Given the description of an element on the screen output the (x, y) to click on. 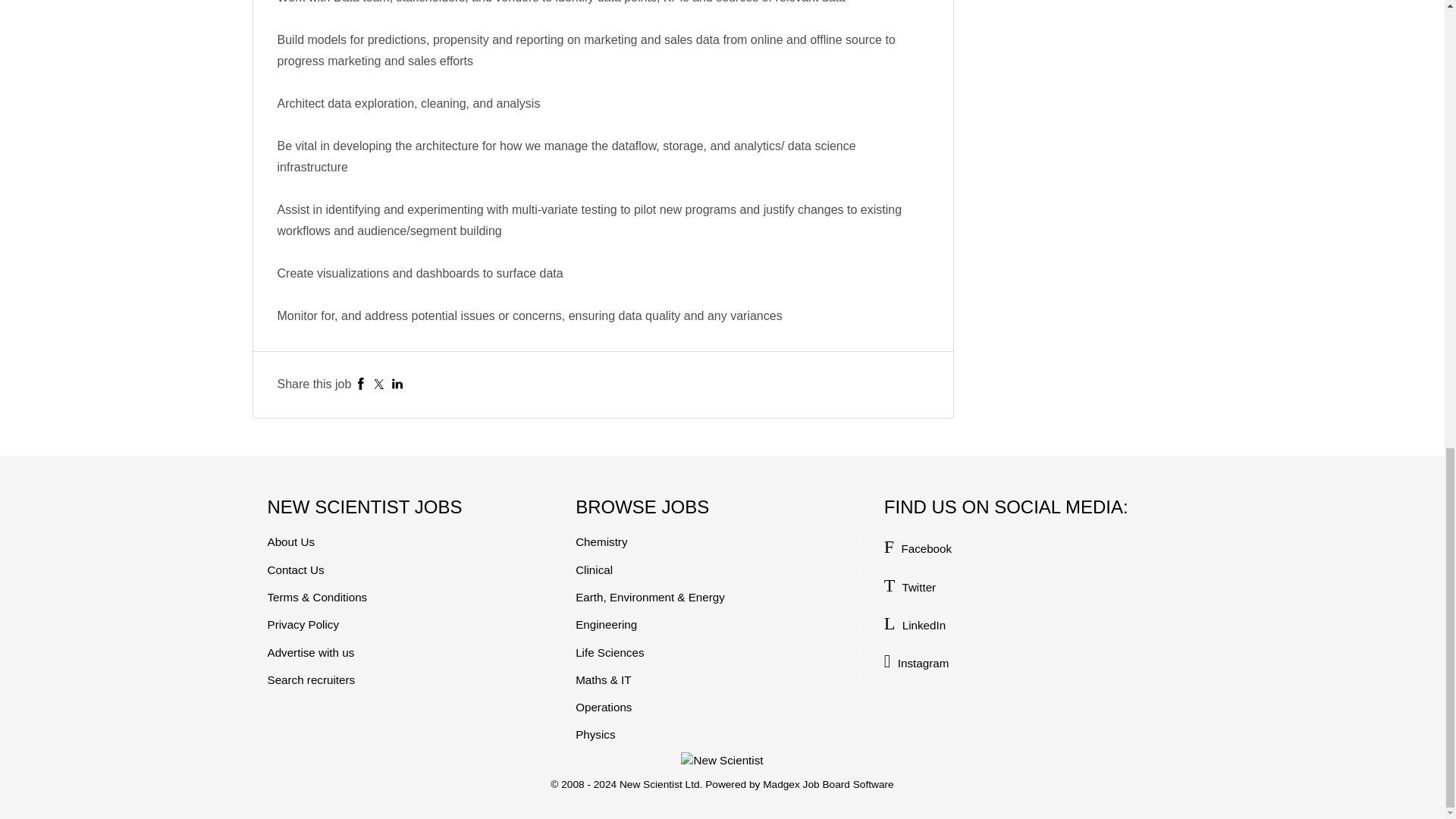
Twitter (378, 383)
Facebook (360, 383)
LinkedIn (397, 383)
